Given the description of an element on the screen output the (x, y) to click on. 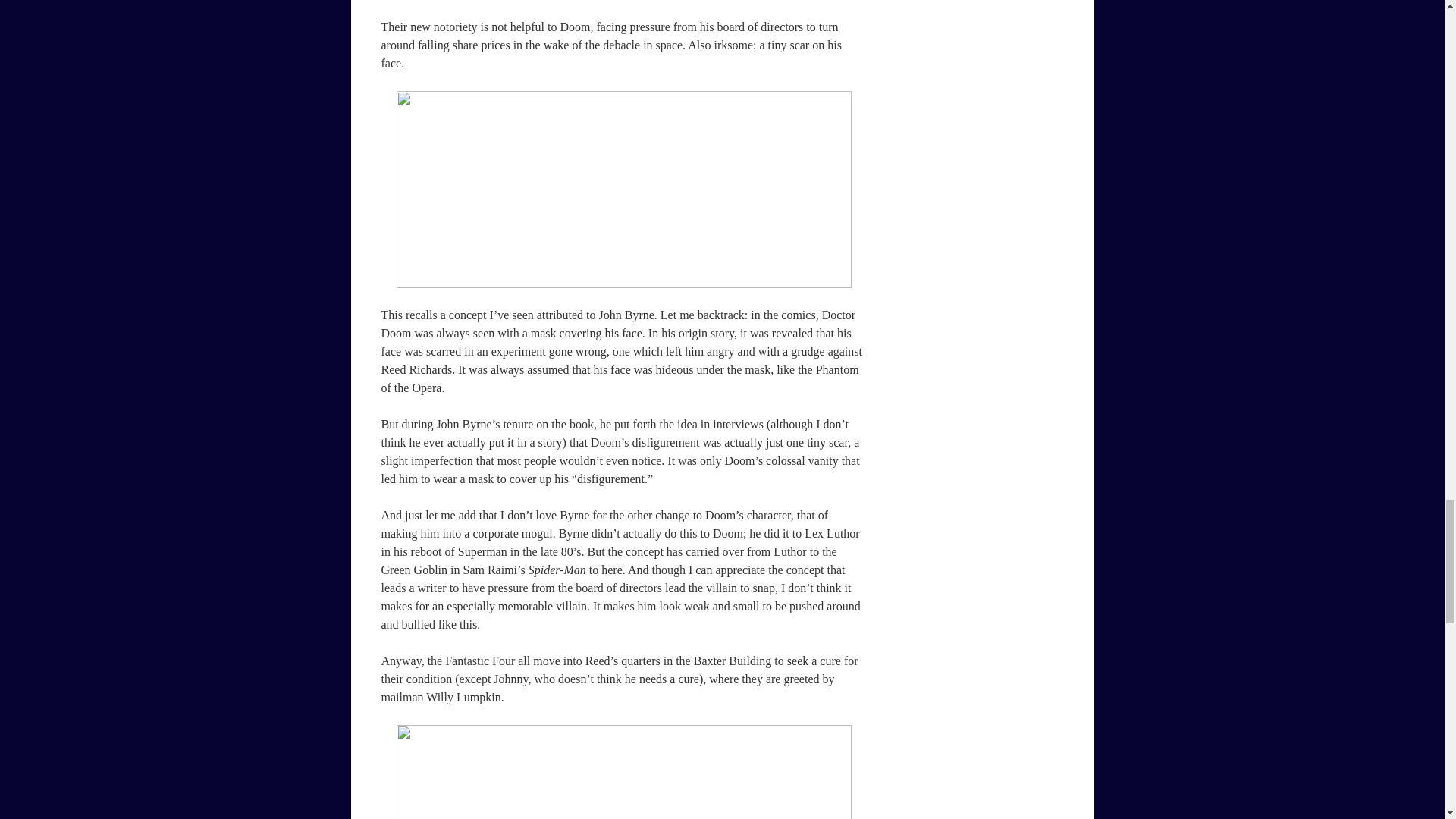
Stan the Mailman (623, 771)
The face of evil (623, 189)
